Given the description of an element on the screen output the (x, y) to click on. 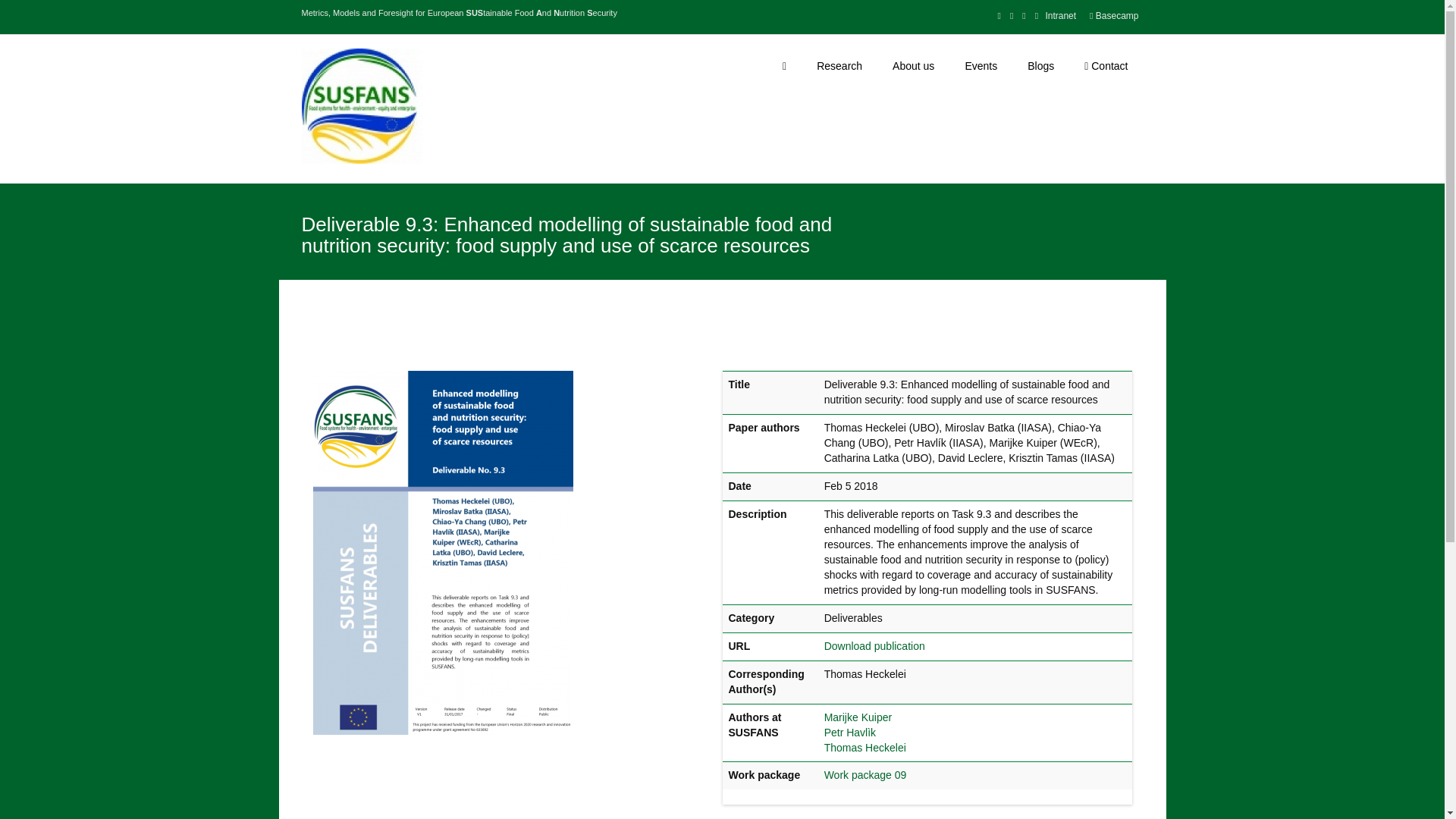
About us (913, 66)
Intranet (1057, 15)
Basecamp (1113, 15)
Research (839, 66)
Return to the SUSFANS home page (362, 105)
Events (980, 66)
